Given the description of an element on the screen output the (x, y) to click on. 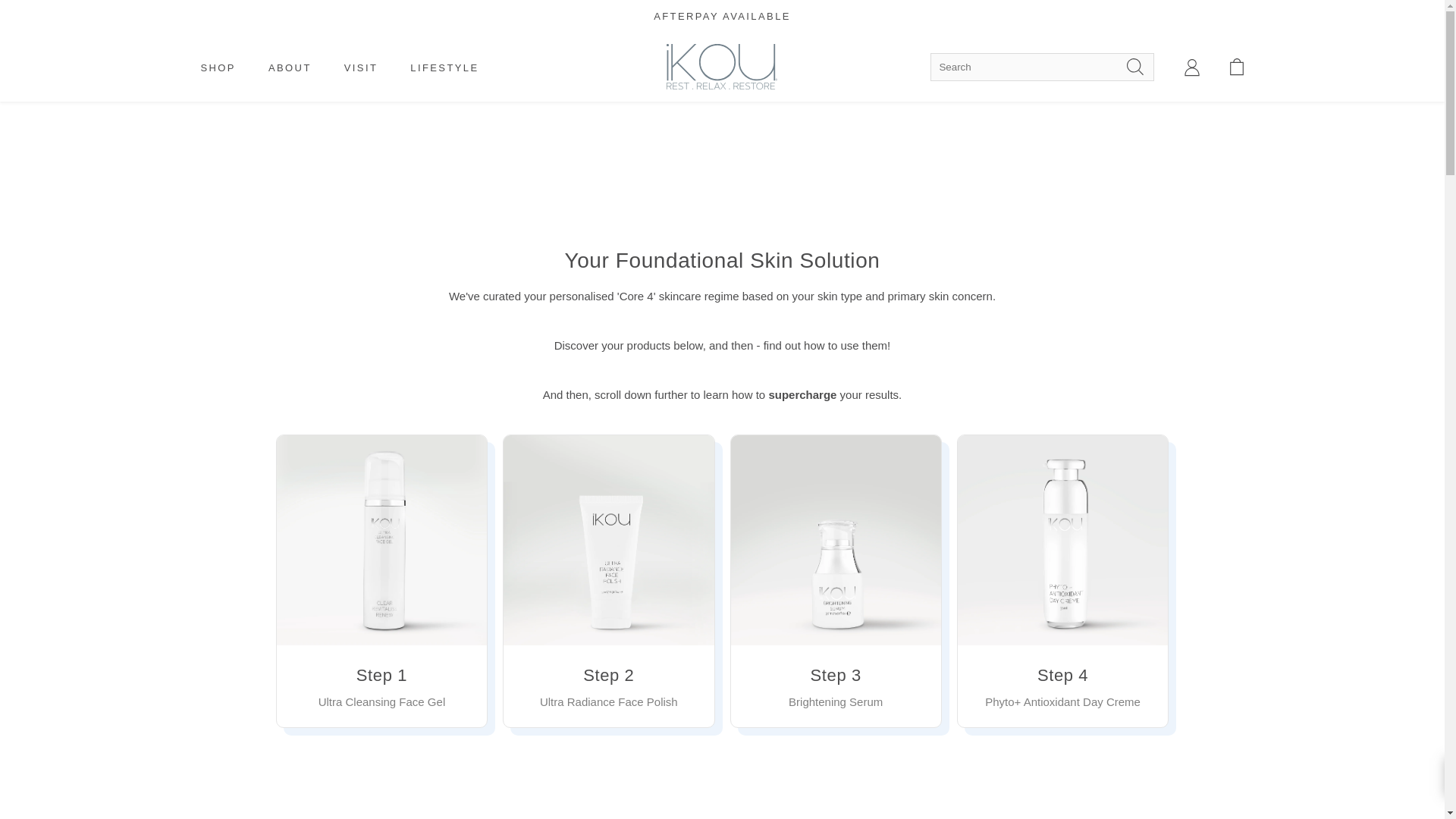
VISIT (360, 67)
LIFESTYLE (444, 67)
SHOP (217, 67)
ABOUT (289, 67)
